Given the description of an element on the screen output the (x, y) to click on. 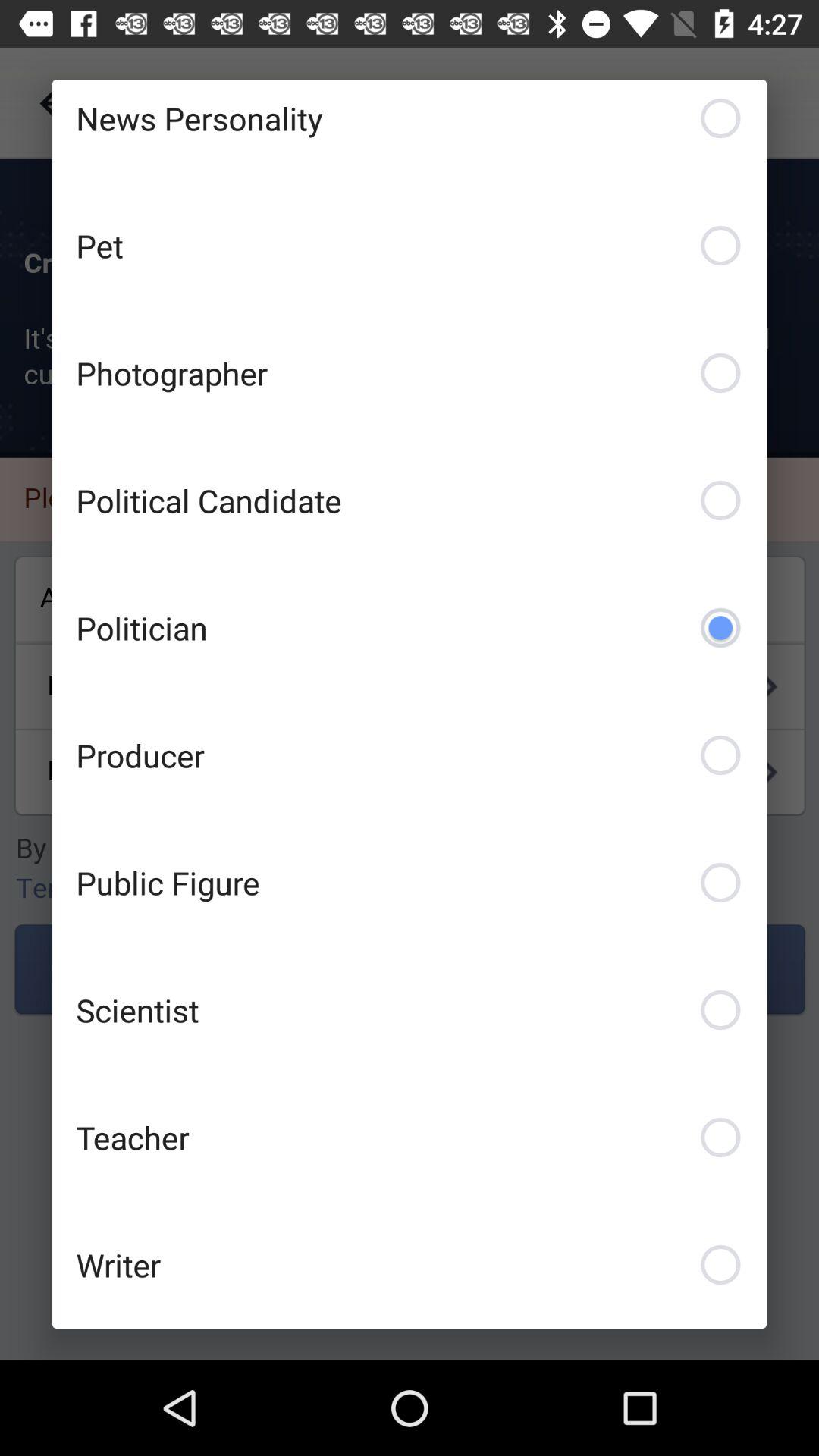
swipe until public figure item (409, 882)
